Given the description of an element on the screen output the (x, y) to click on. 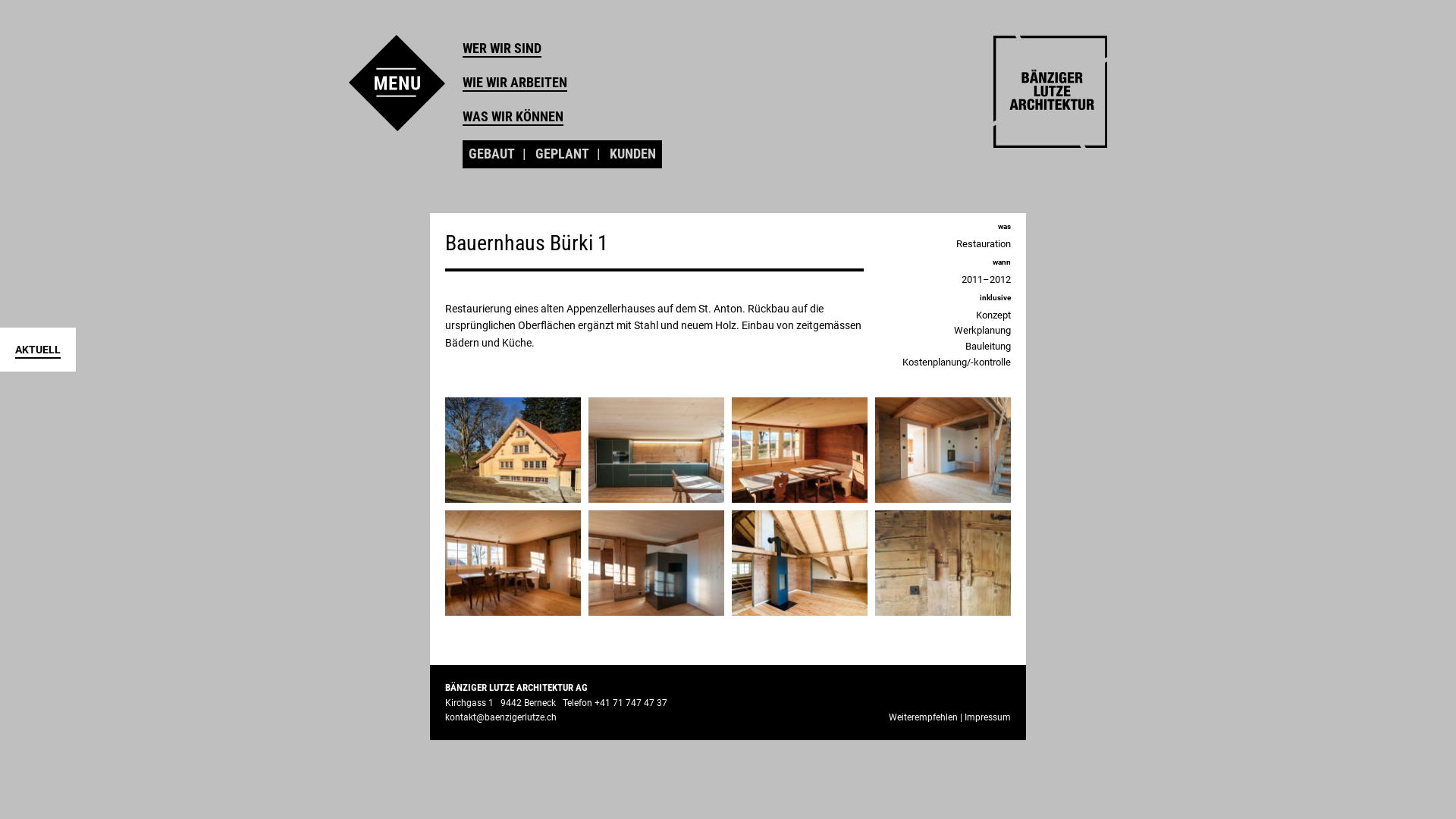
Schindelfasade Element type: hover (512, 448)
Schindelfasade Element type: hover (512, 449)
KUNDEN Element type: text (632, 154)
Dachraum Element type: hover (799, 562)
Impressum Element type: text (987, 717)
GEPLANT Element type: text (562, 154)
Offen Element type: hover (656, 561)
kontakt@baenzigerlutze.ch Element type: text (500, 717)
AKTUELL Element type: text (37, 350)
Stube Element type: hover (512, 561)
GEBAUT Element type: text (491, 154)
Feuerung Element type: hover (942, 449)
Stube Element type: hover (799, 449)
Weiterempfehlen Element type: text (922, 717)
WER WIR SIND Element type: text (501, 48)
Feuerung Element type: hover (942, 448)
Offen Element type: hover (656, 562)
Menu Element type: text (396, 82)
Dachraum Element type: hover (799, 561)
WIE WIR ARBEITEN Element type: text (514, 82)
Stube Element type: hover (512, 562)
Stube Element type: hover (799, 448)
